Given the description of an element on the screen output the (x, y) to click on. 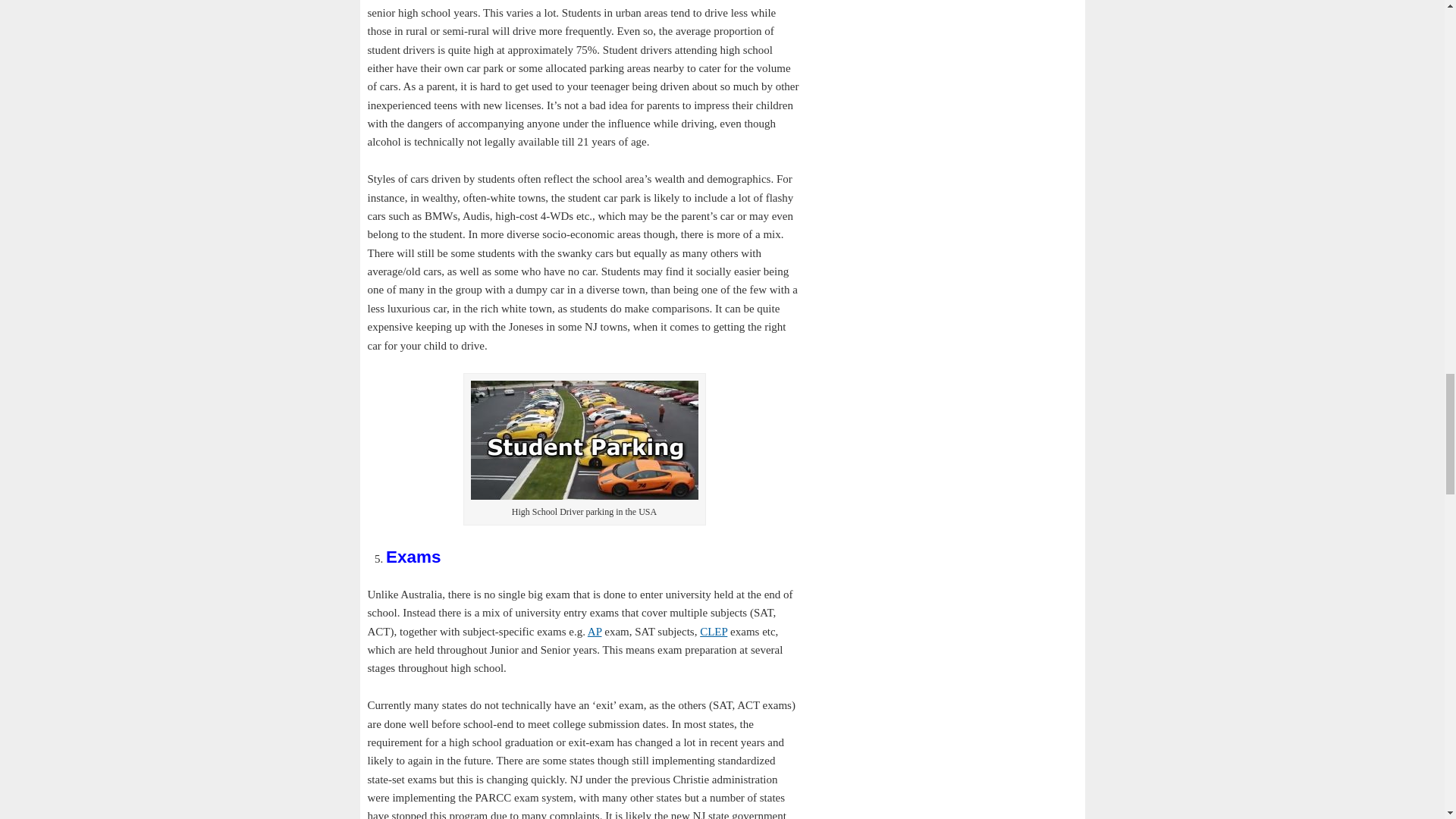
AP (595, 631)
CLEP (713, 631)
